Given the description of an element on the screen output the (x, y) to click on. 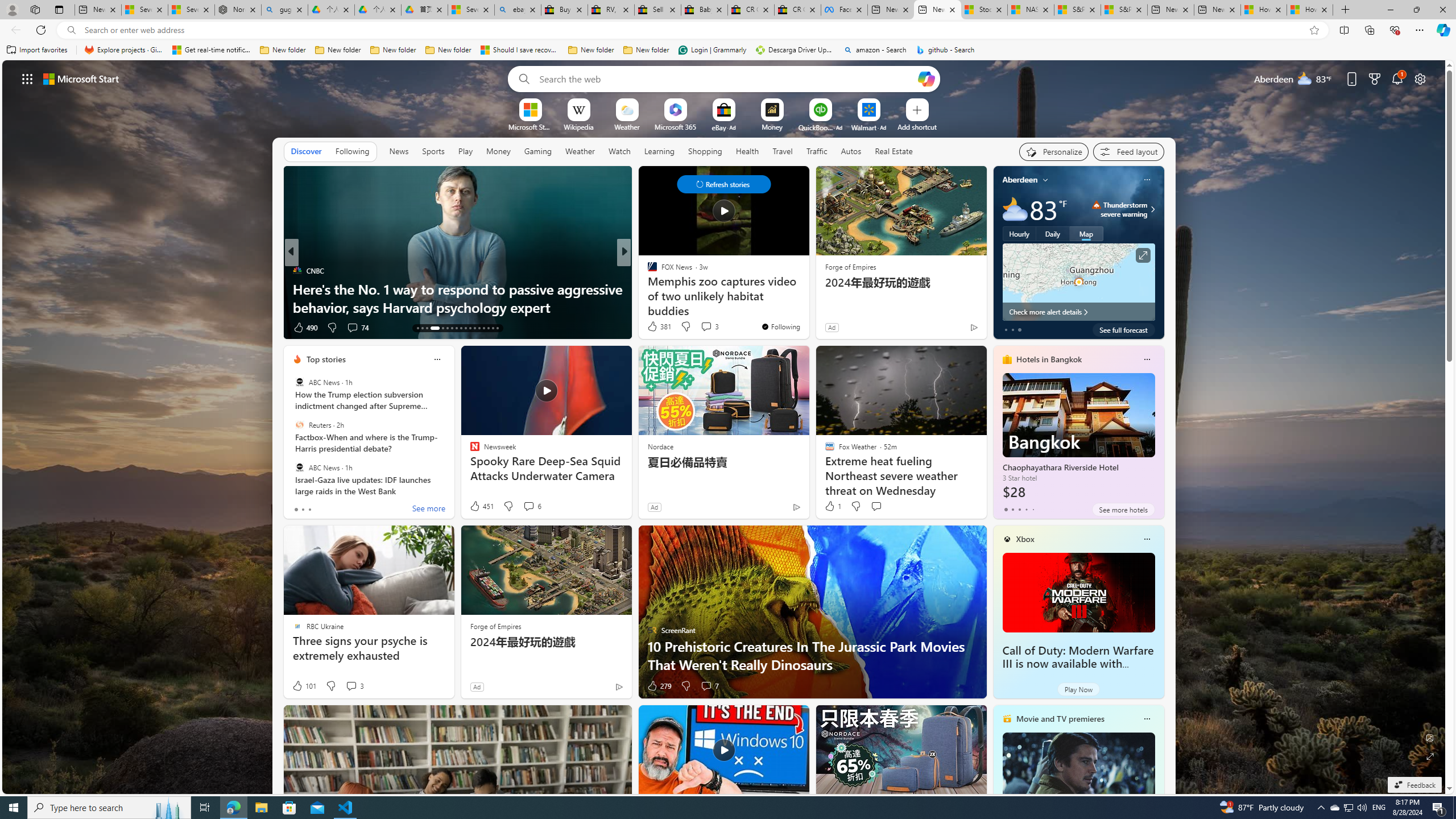
News (398, 151)
tab-2 (1019, 509)
Add a site (916, 126)
View comments 1 Comment (698, 327)
tab-0 (1005, 509)
69 Like (652, 327)
Traffic (816, 151)
Expand background (1430, 756)
311 Like (654, 327)
